Given the description of an element on the screen output the (x, y) to click on. 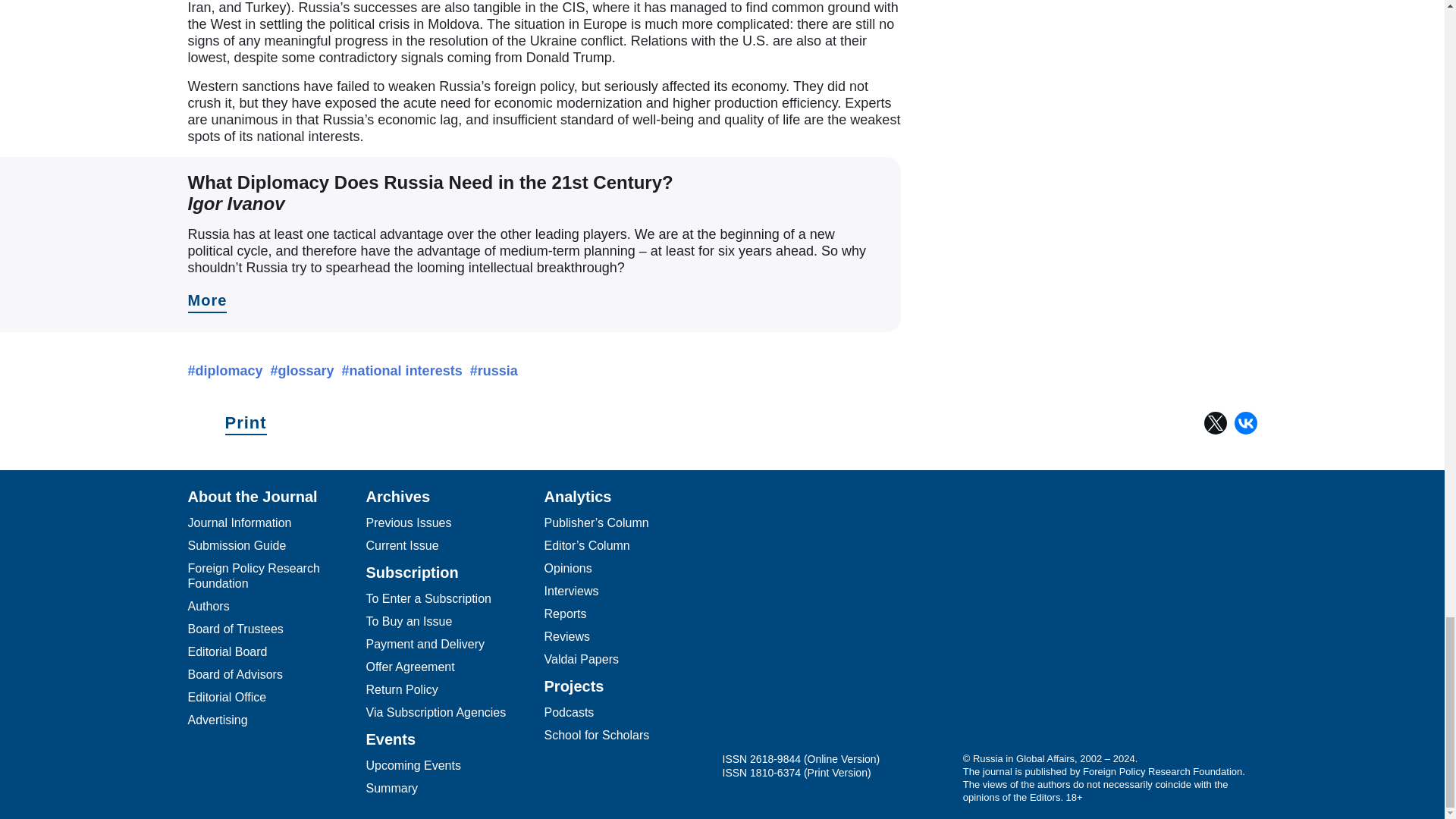
Twitter (805, 627)
Twitter (1215, 422)
RSS (926, 627)
Vkontakte (865, 627)
Telegram (744, 627)
